Given the description of an element on the screen output the (x, y) to click on. 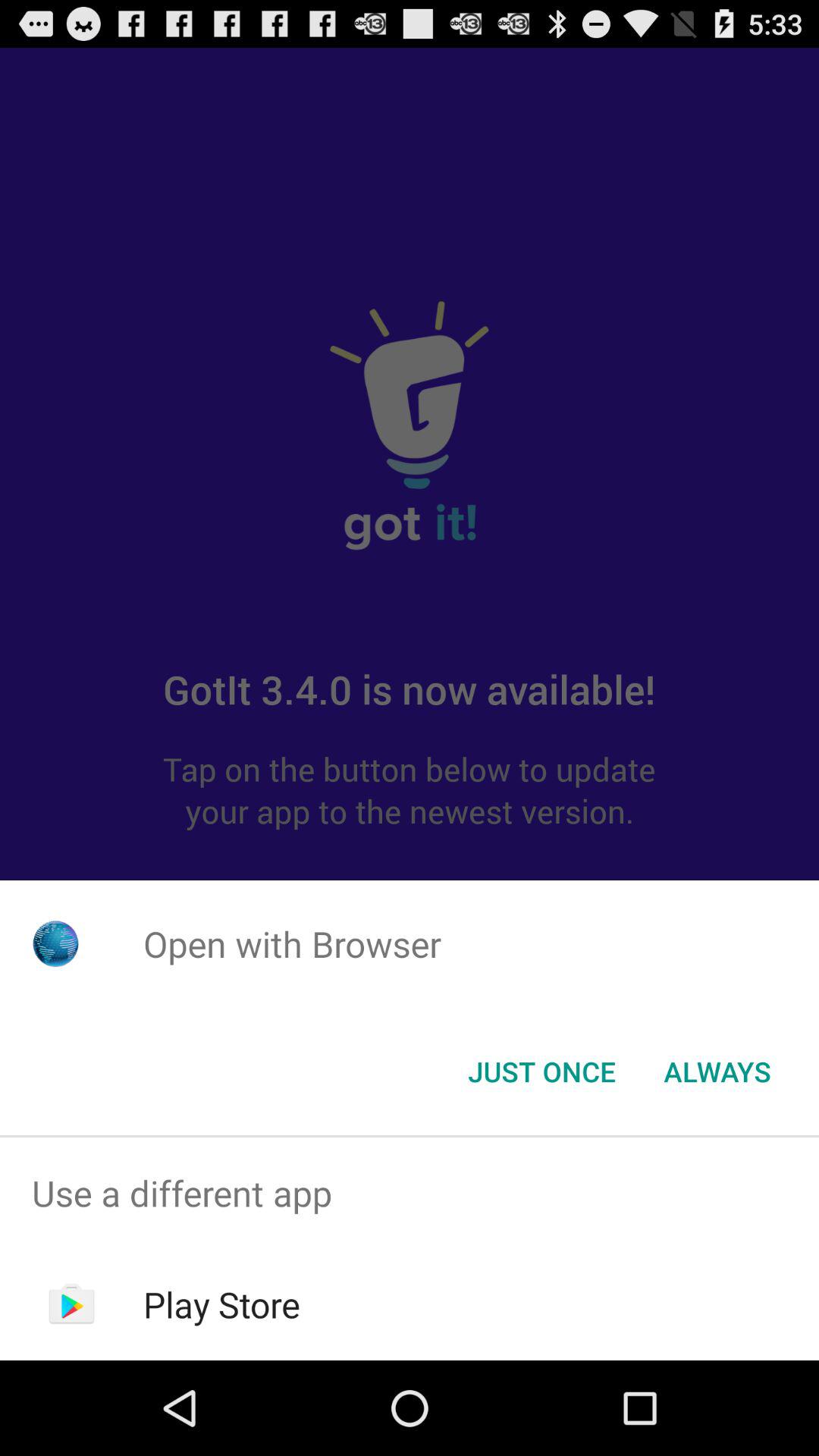
open just once (541, 1071)
